Given the description of an element on the screen output the (x, y) to click on. 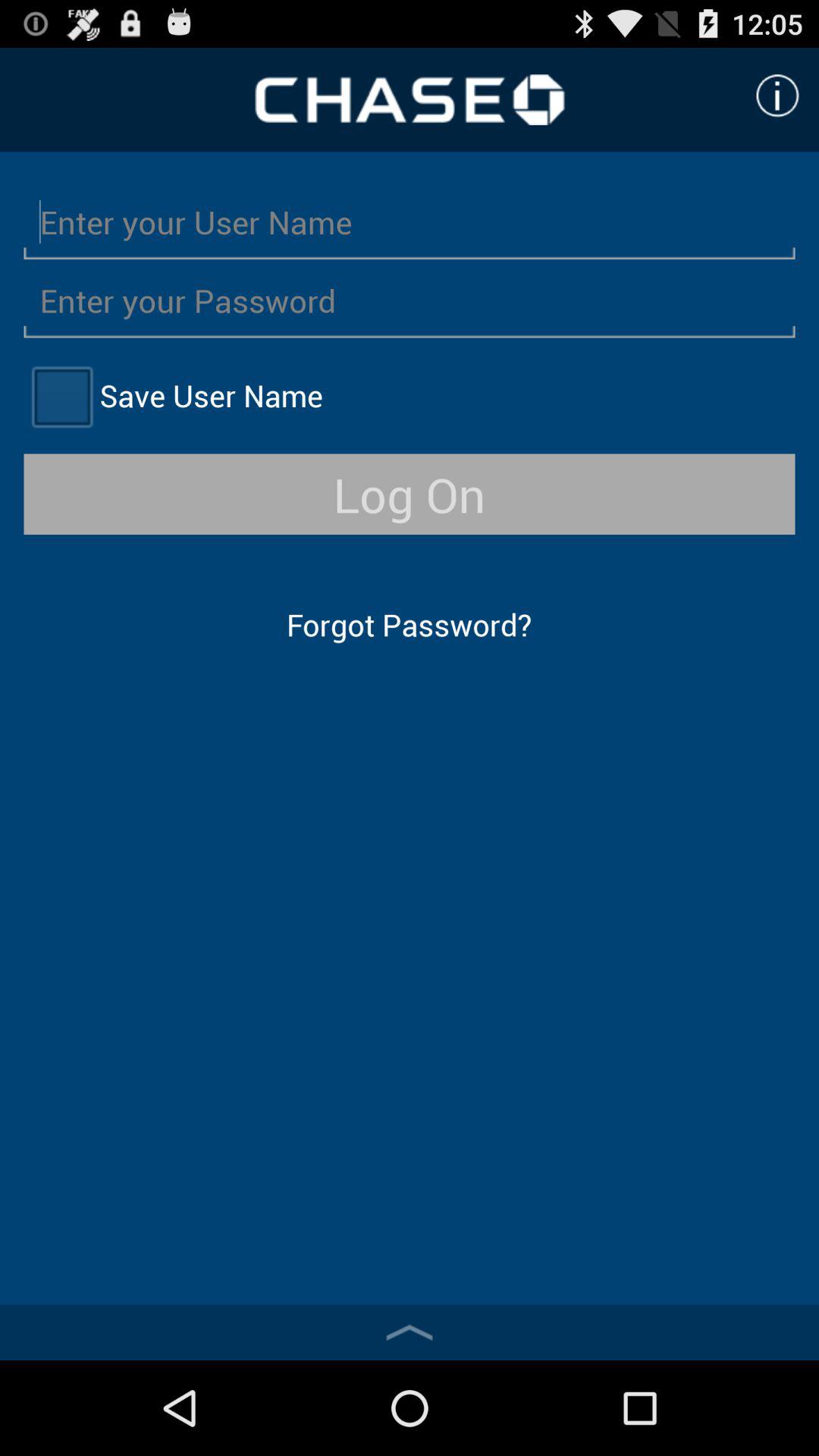
enter username (409, 221)
